Given the description of an element on the screen output the (x, y) to click on. 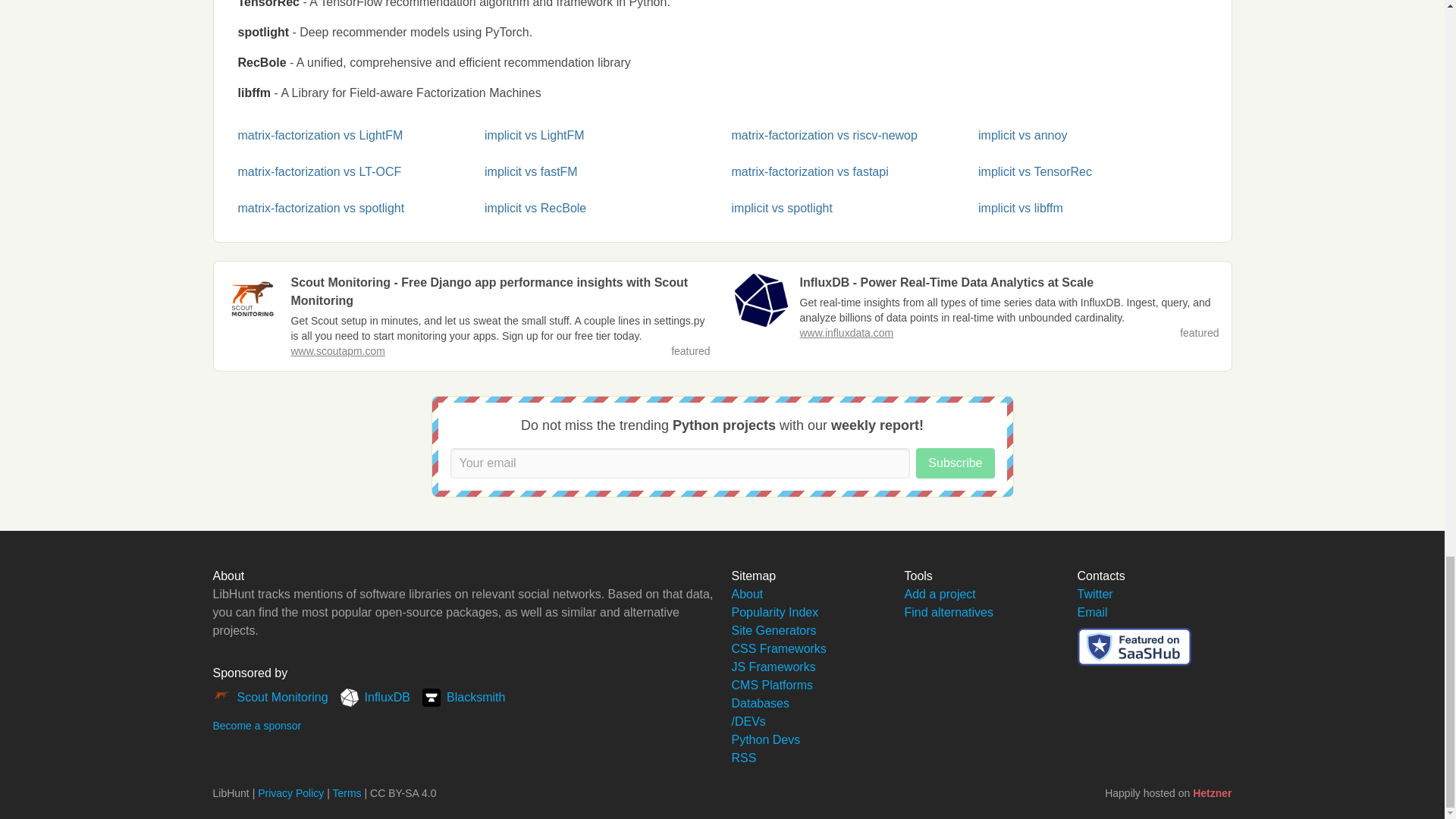
Scout Monitoring Logo (252, 299)
Subscribe (954, 462)
InfluxDB Logo (760, 299)
